Given the description of an element on the screen output the (x, y) to click on. 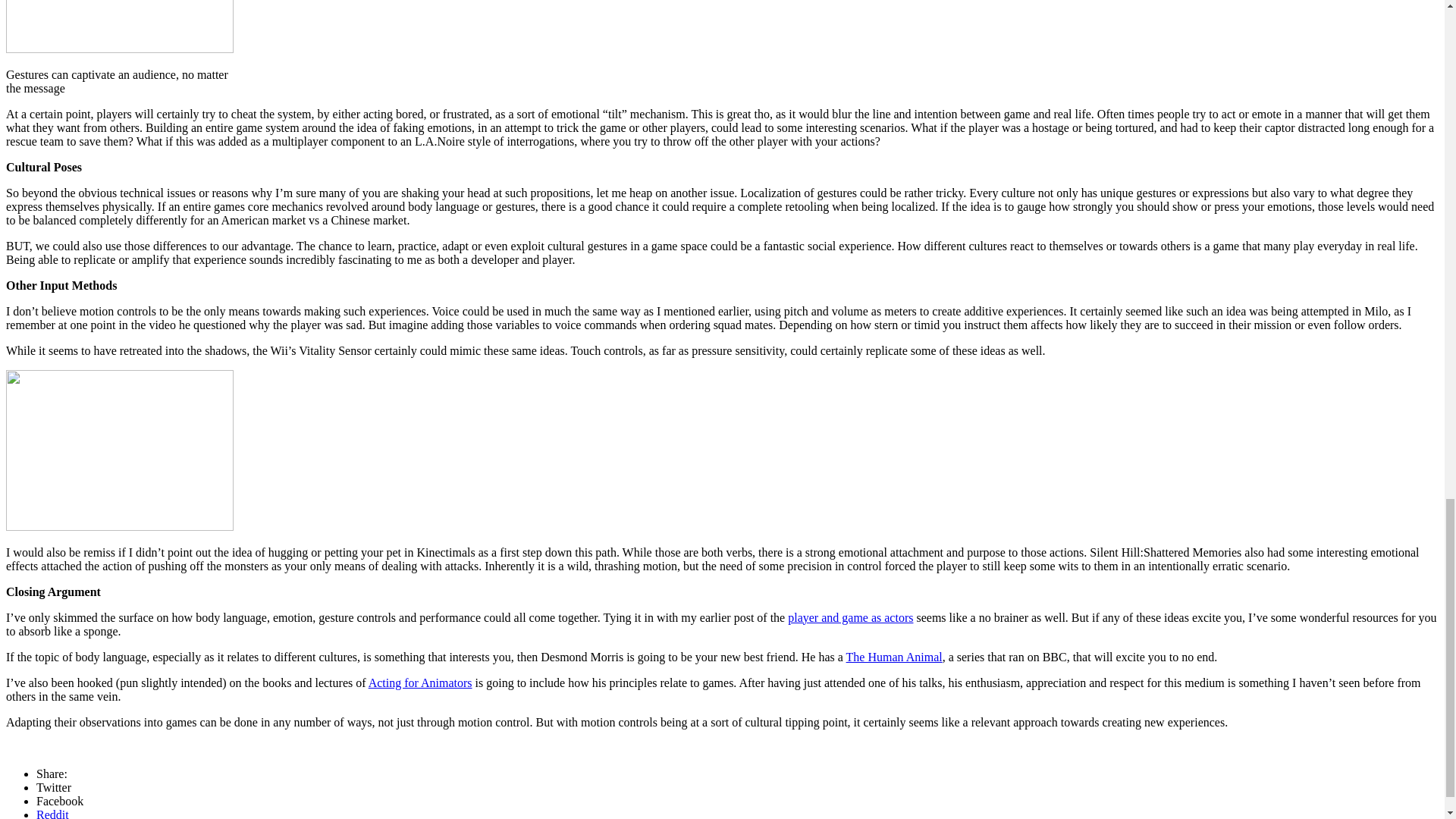
Acting for Animators (419, 681)
player and game as actors (849, 616)
Twitter (53, 786)
Facebook (59, 799)
The Human Animal (893, 656)
